Given the description of an element on the screen output the (x, y) to click on. 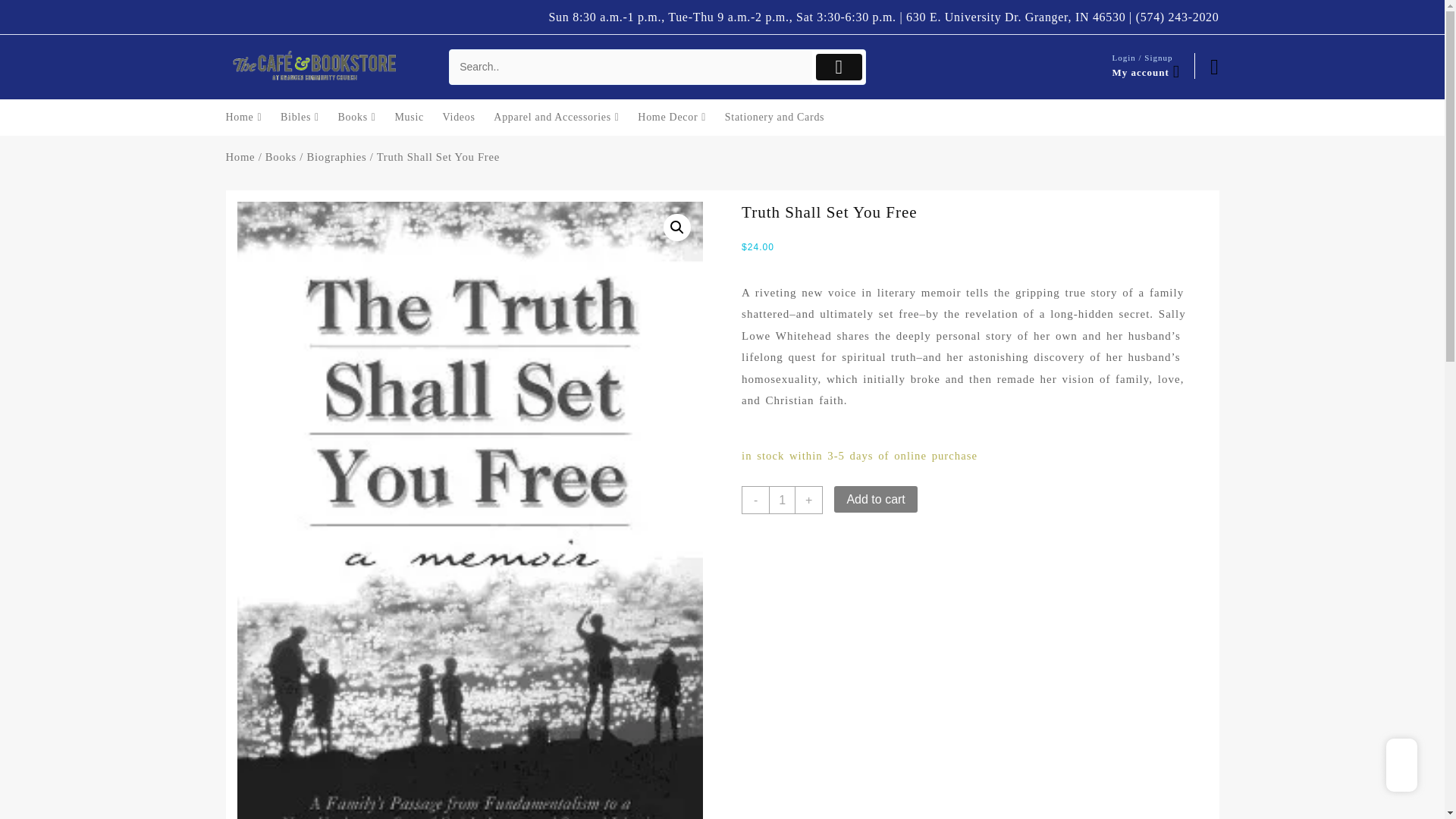
1 (781, 499)
Search (630, 66)
Submit (838, 67)
630 E. University Dr. Granger, IN 46530 (1015, 16)
